Given the description of an element on the screen output the (x, y) to click on. 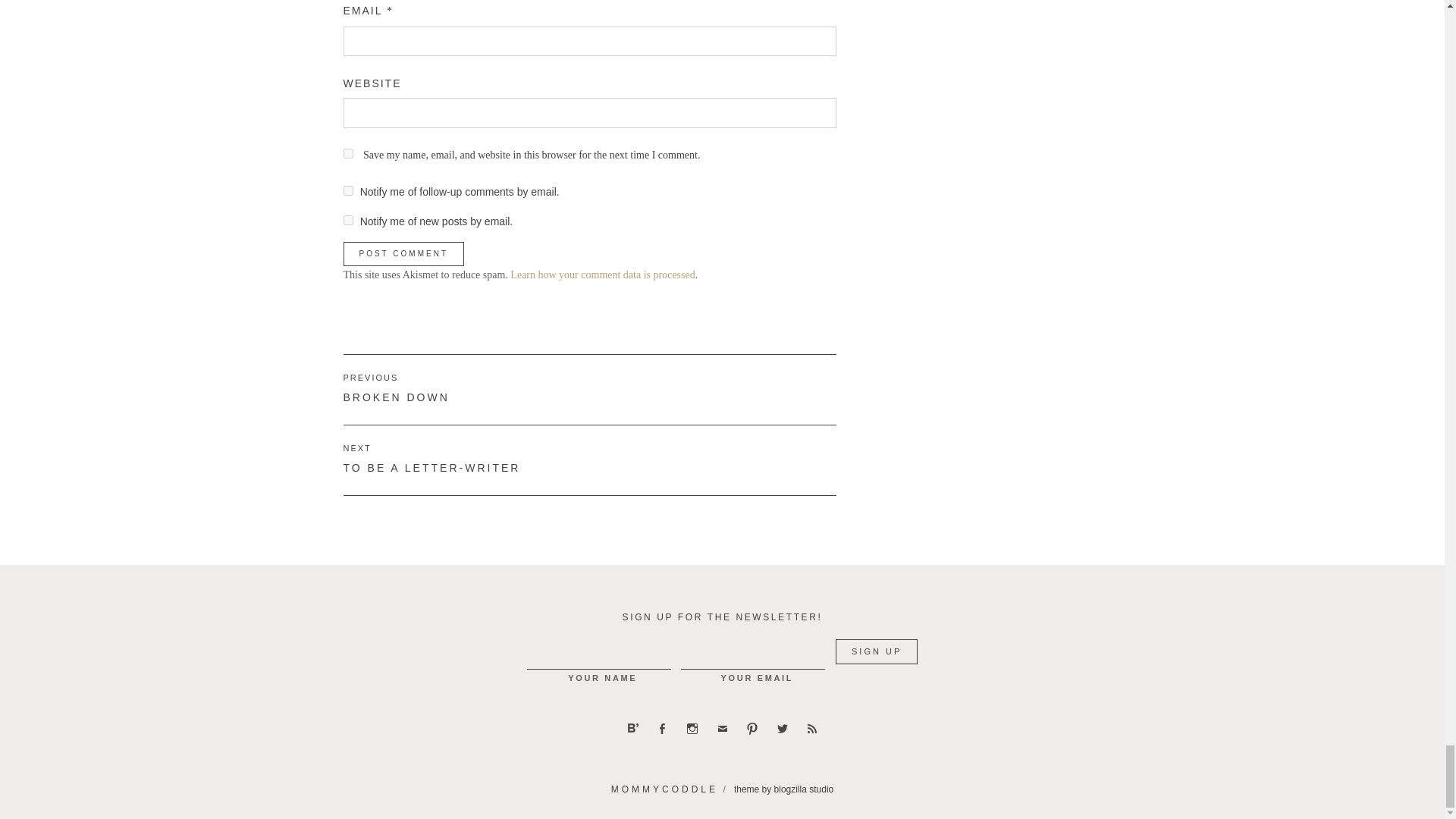
yes (347, 153)
Post Comment (402, 253)
subscribe (347, 220)
Sign up (876, 651)
subscribe (347, 190)
